Given the description of an element on the screen output the (x, y) to click on. 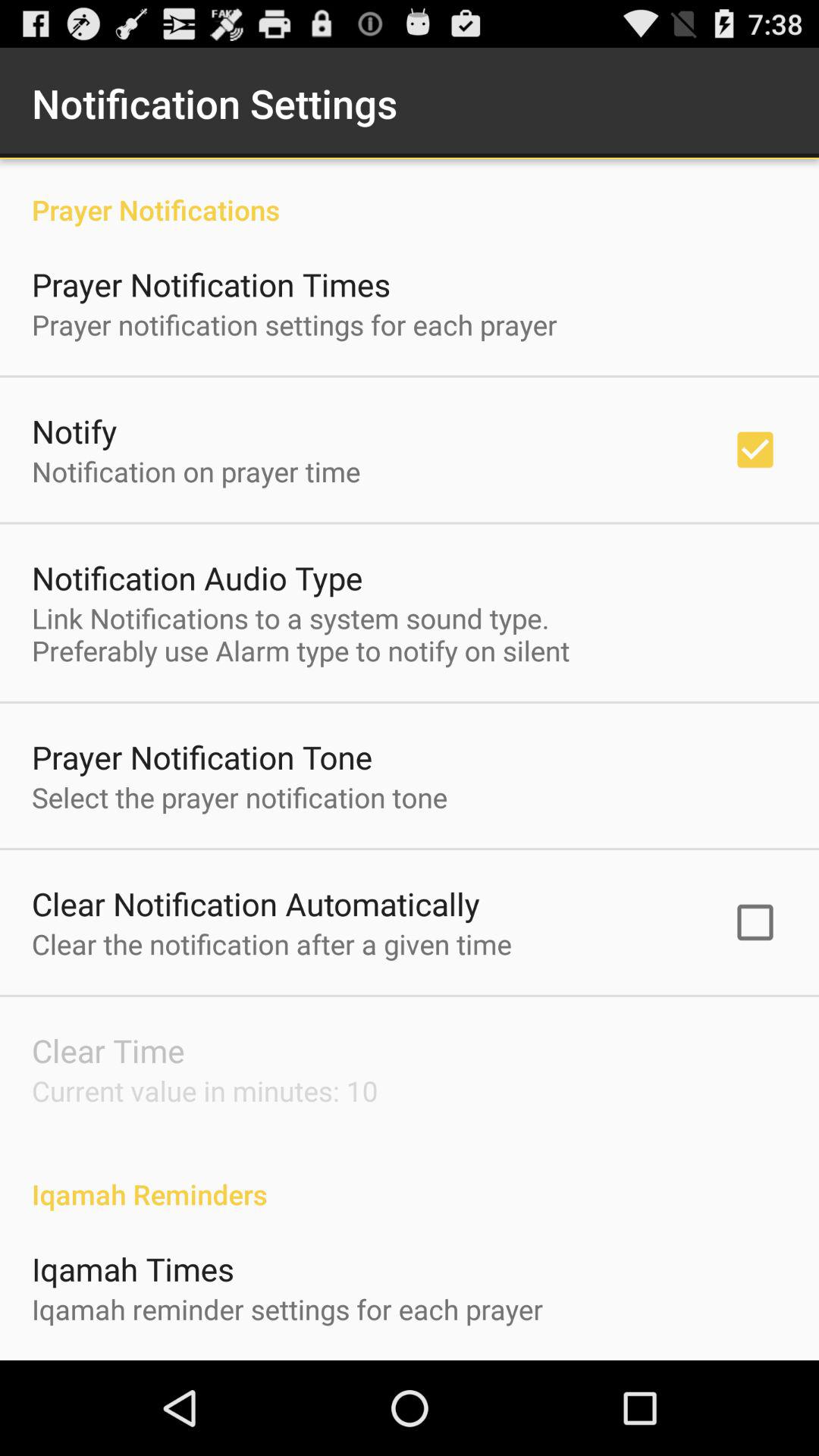
turn on the select the prayer icon (239, 797)
